Given the description of an element on the screen output the (x, y) to click on. 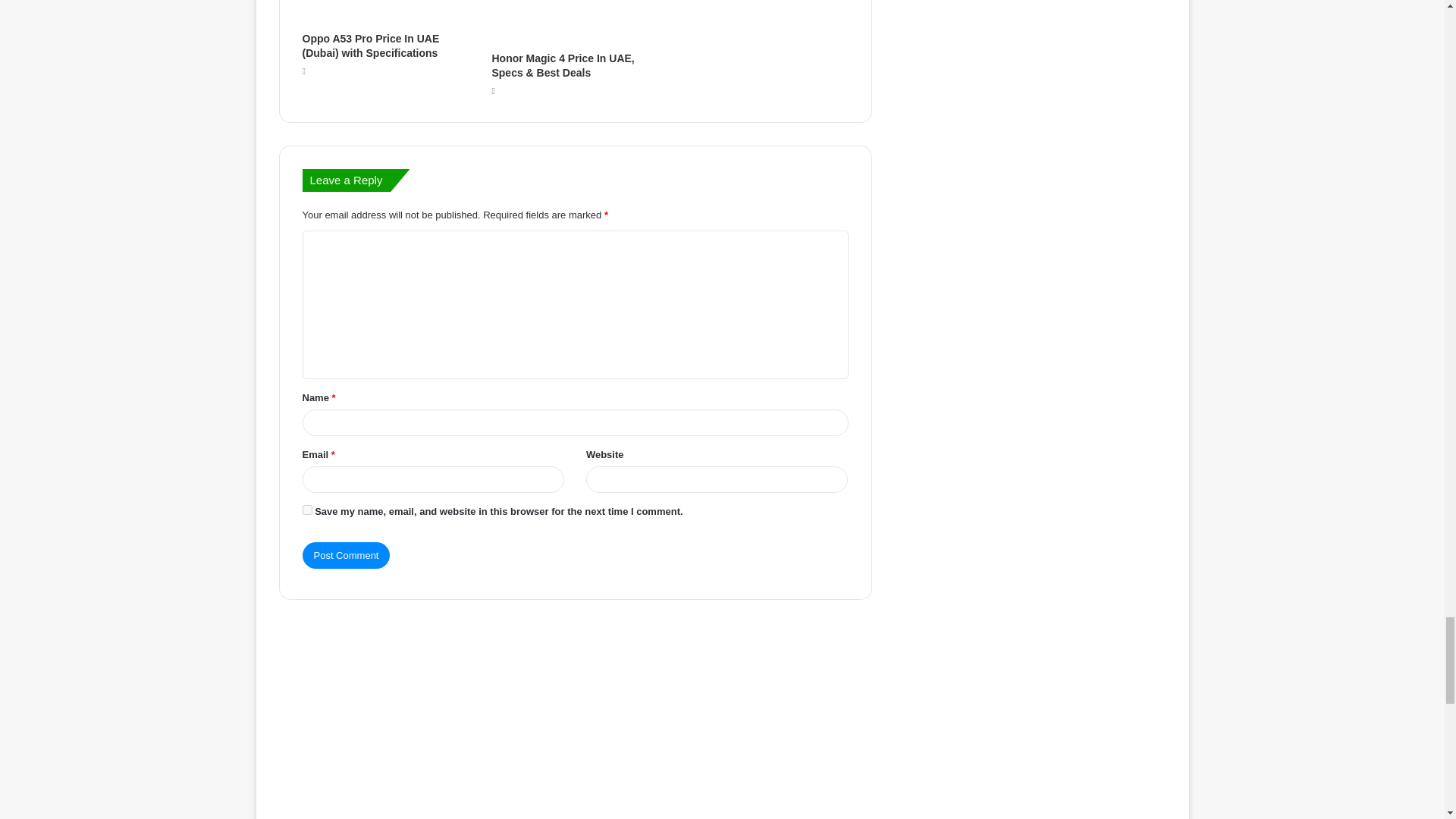
Post Comment (345, 555)
yes (306, 510)
